Given the description of an element on the screen output the (x, y) to click on. 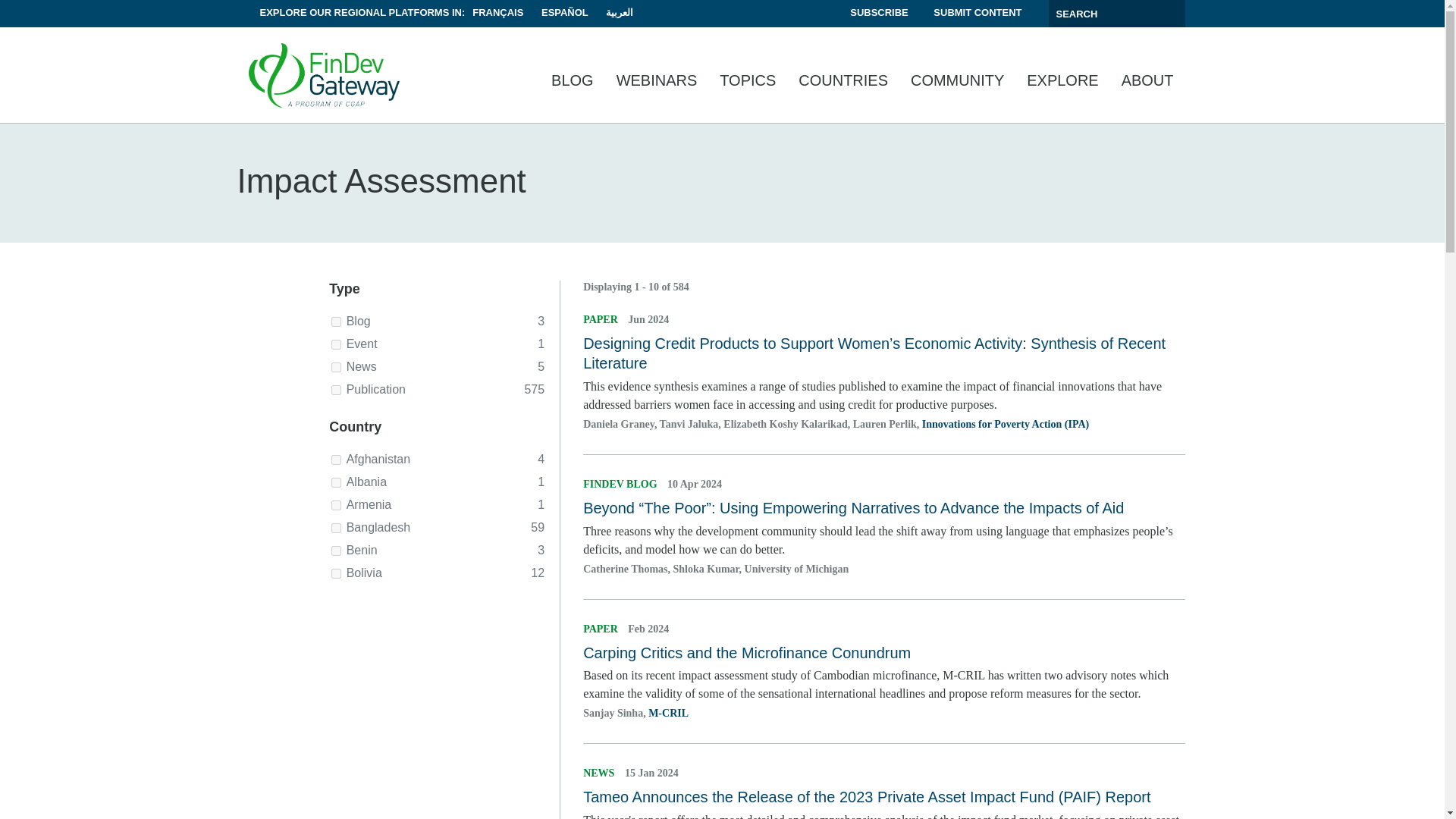
blog (335, 321)
event (335, 344)
WEBINARS (656, 82)
Search (1170, 13)
Skip to main content (721, 1)
TOPICS (747, 82)
COMMUNITY (957, 82)
SUBSCRIBE (878, 12)
EXPLORE (1061, 82)
SUBMIT CONTENT (977, 12)
